Given the description of an element on the screen output the (x, y) to click on. 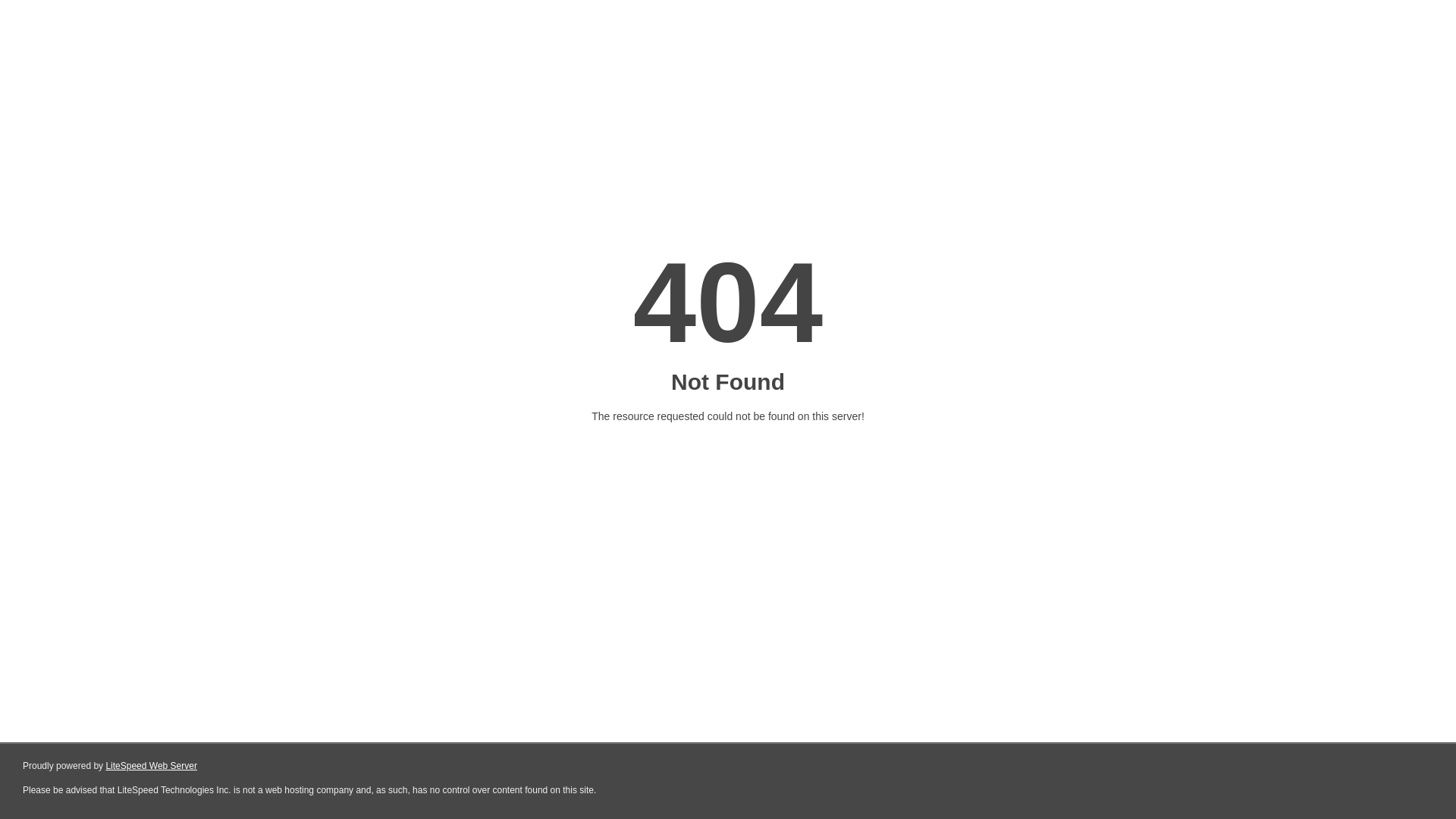
LiteSpeed Web Server Element type: text (151, 765)
